Given the description of an element on the screen output the (x, y) to click on. 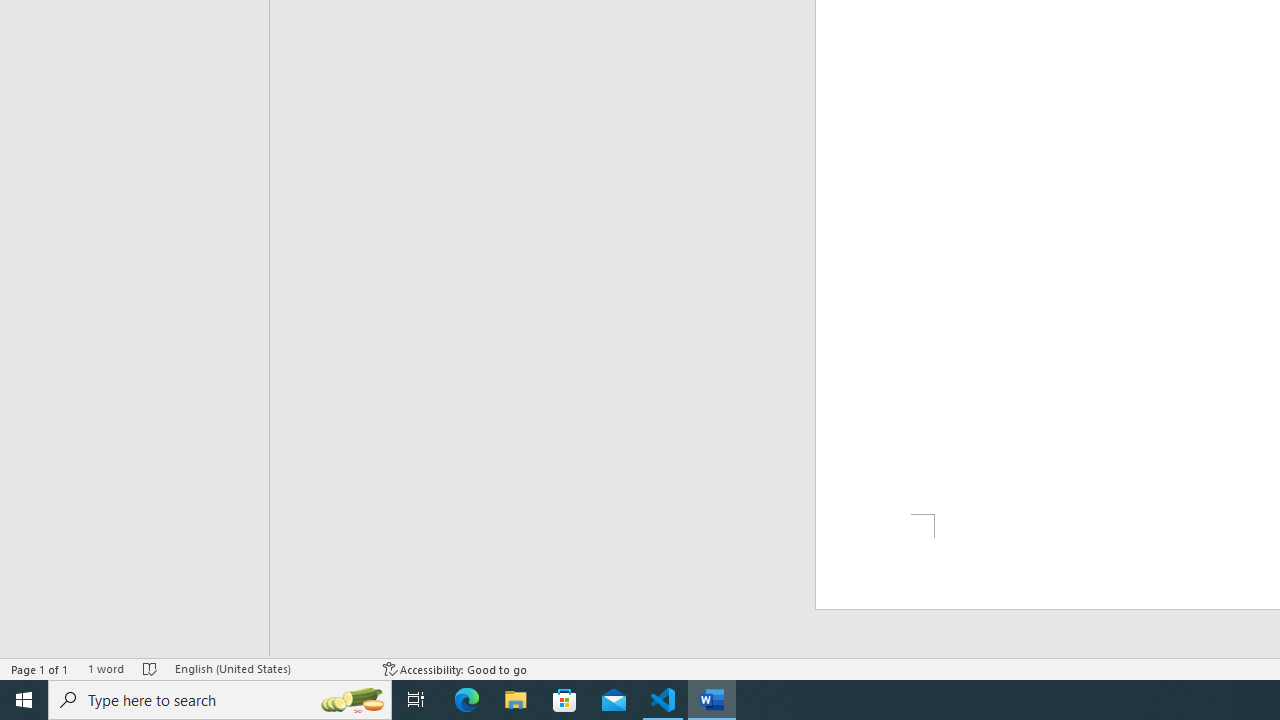
Accessibility Checker Accessibility: Good to go (455, 668)
Spelling and Grammar Check No Errors (150, 668)
Page Number Page 1 of 1 (39, 668)
Language English (United States) (269, 668)
